Given the description of an element on the screen output the (x, y) to click on. 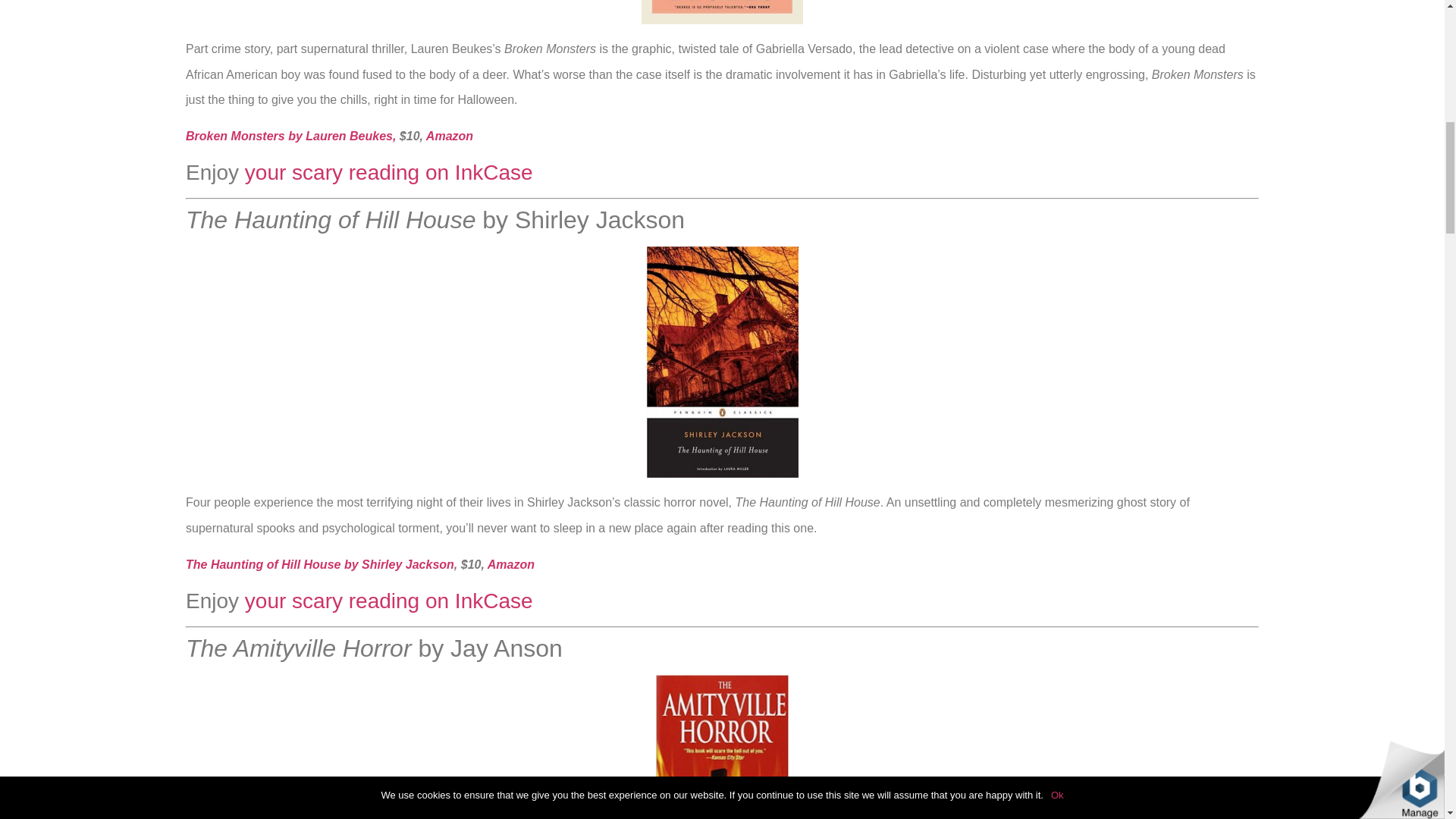
your scary reading on InkCase (388, 172)
The Haunting of Hill House by Shirley Jackson (320, 563)
Amazon (510, 563)
Amazon (449, 135)
Broken Monsters by Lauren Beukes (289, 135)
